Given the description of an element on the screen output the (x, y) to click on. 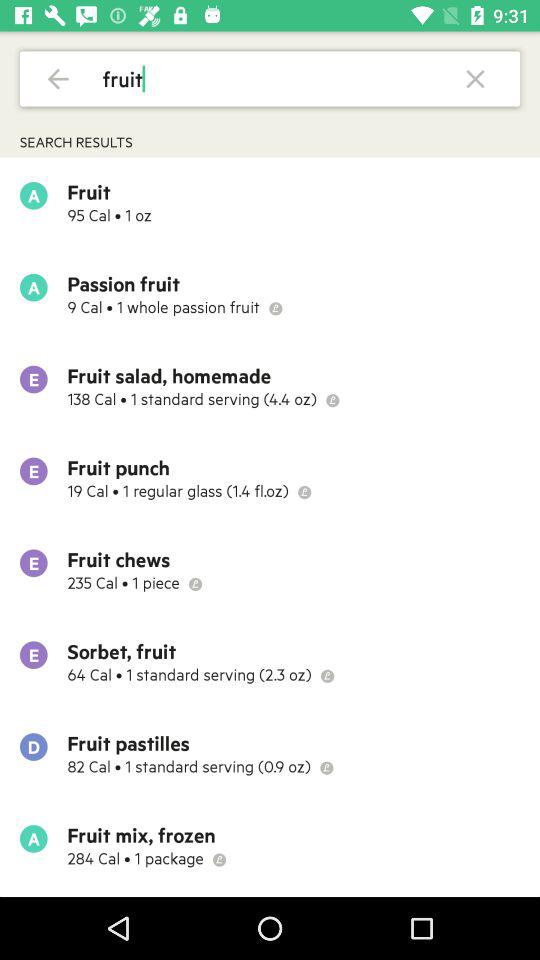
launch the item at the top right corner (475, 78)
